Given the description of an element on the screen output the (x, y) to click on. 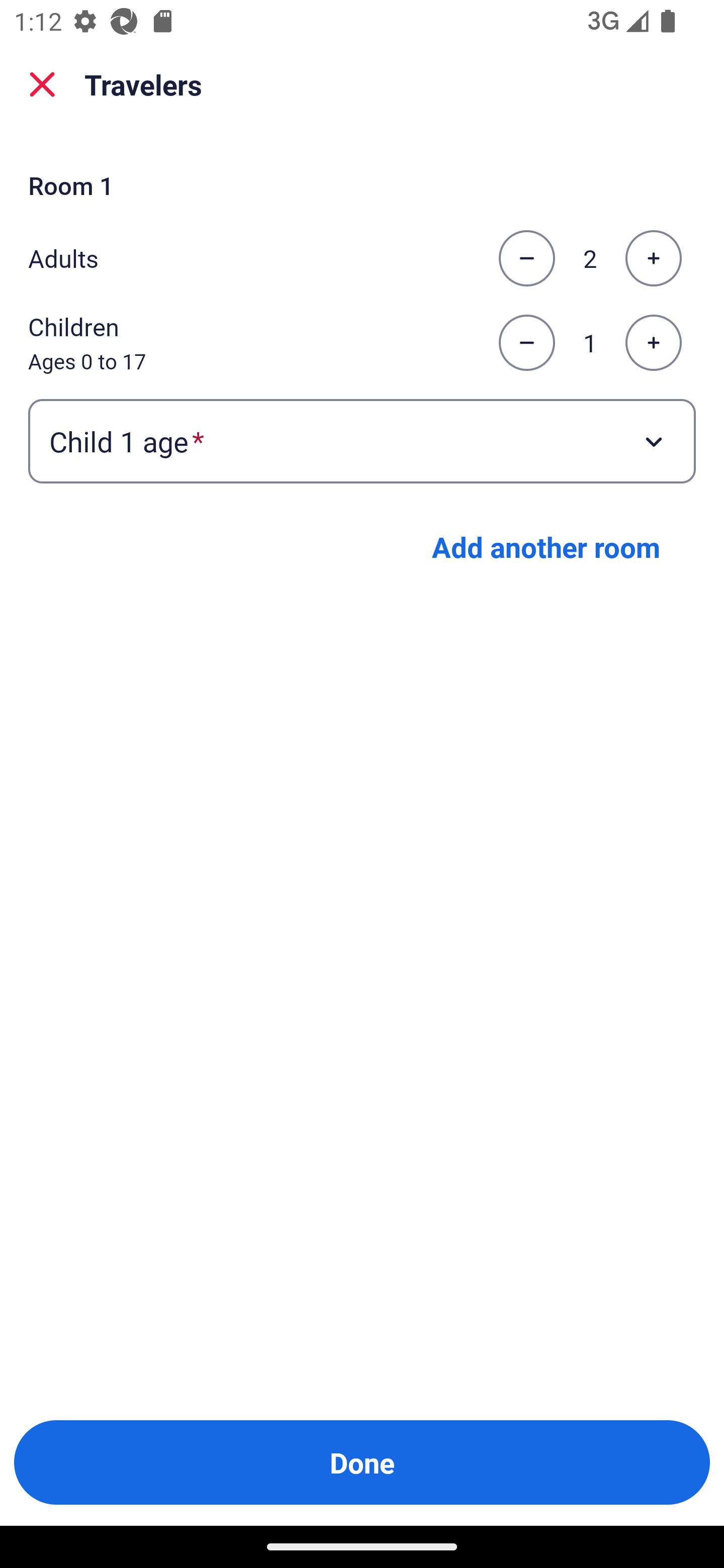
close (42, 84)
Decrease the number of adults (526, 258)
Increase the number of adults (653, 258)
Decrease the number of children (526, 343)
Increase the number of children (653, 343)
Child 1 age required Button (361, 440)
Add another room (545, 546)
Done (361, 1462)
